Given the description of an element on the screen output the (x, y) to click on. 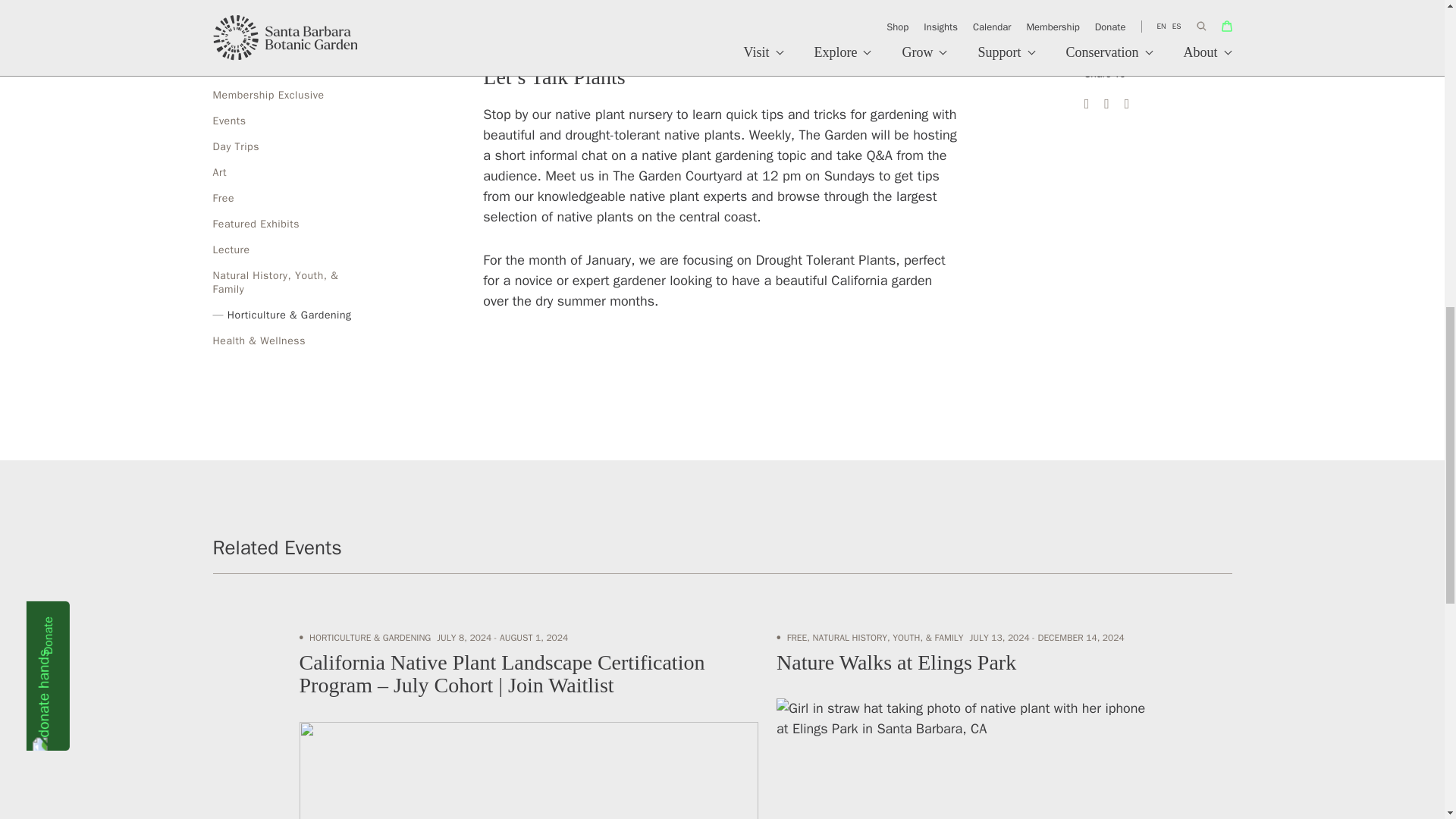
Nature Walks at Elings Park (960, 758)
Nature Walks at Elings Park (960, 726)
Nature Walks at Elings Park (896, 662)
